Given the description of an element on the screen output the (x, y) to click on. 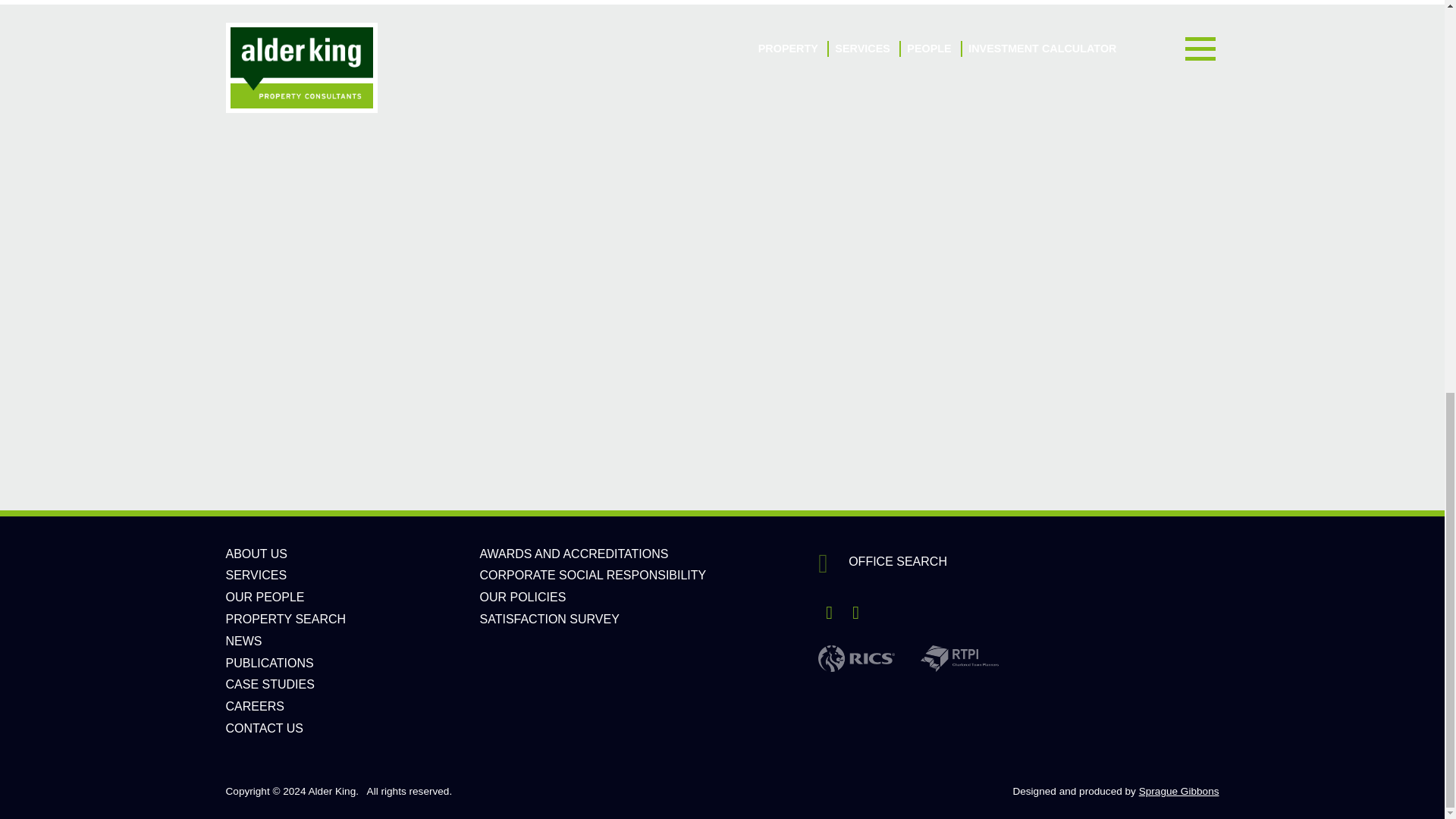
NEWS (243, 640)
ABOUT US (256, 553)
PROPERTY SEARCH (285, 618)
SERVICES (255, 574)
OUR PEOPLE (264, 596)
